Given the description of an element on the screen output the (x, y) to click on. 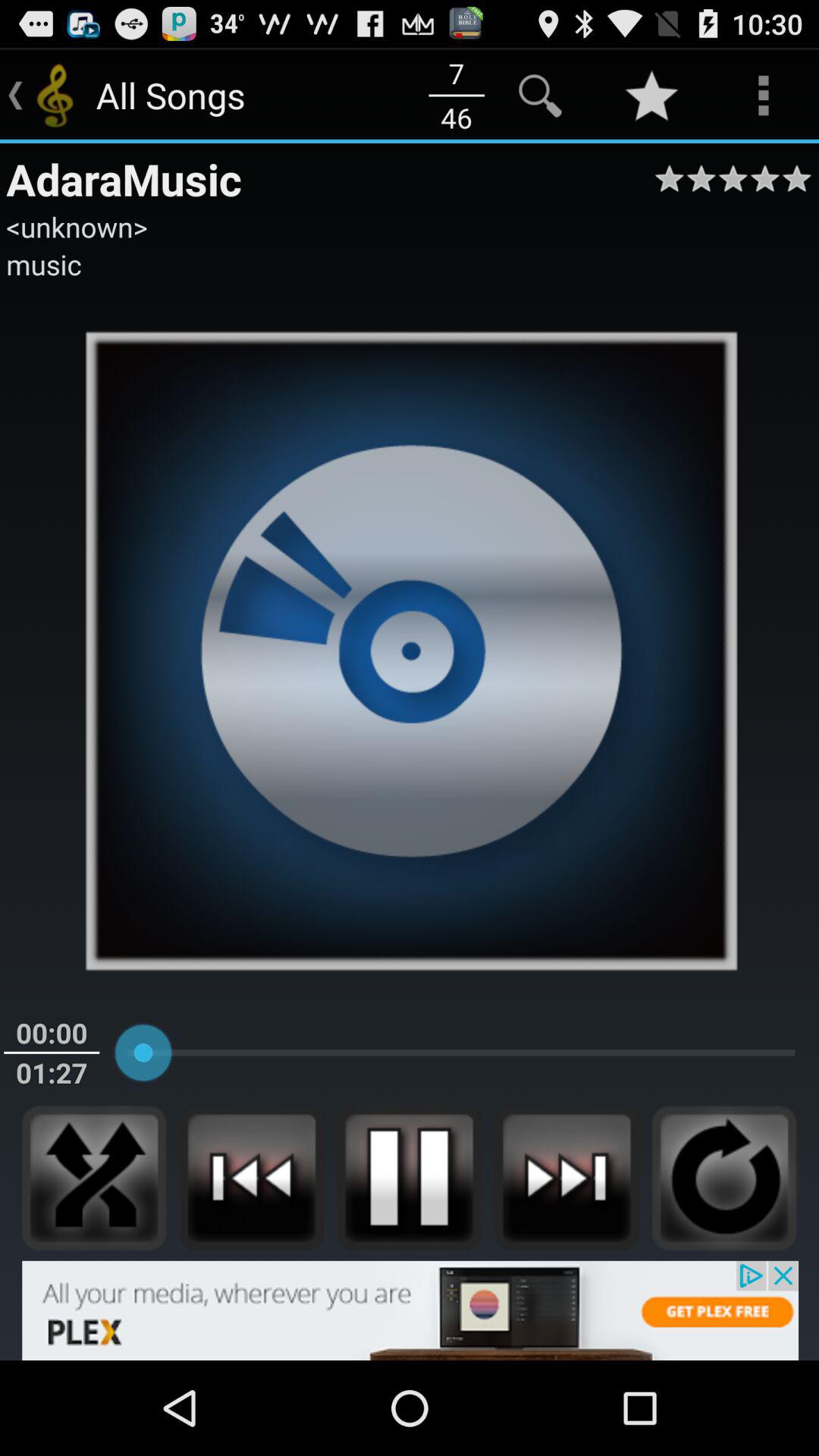
pause media (408, 1177)
